Given the description of an element on the screen output the (x, y) to click on. 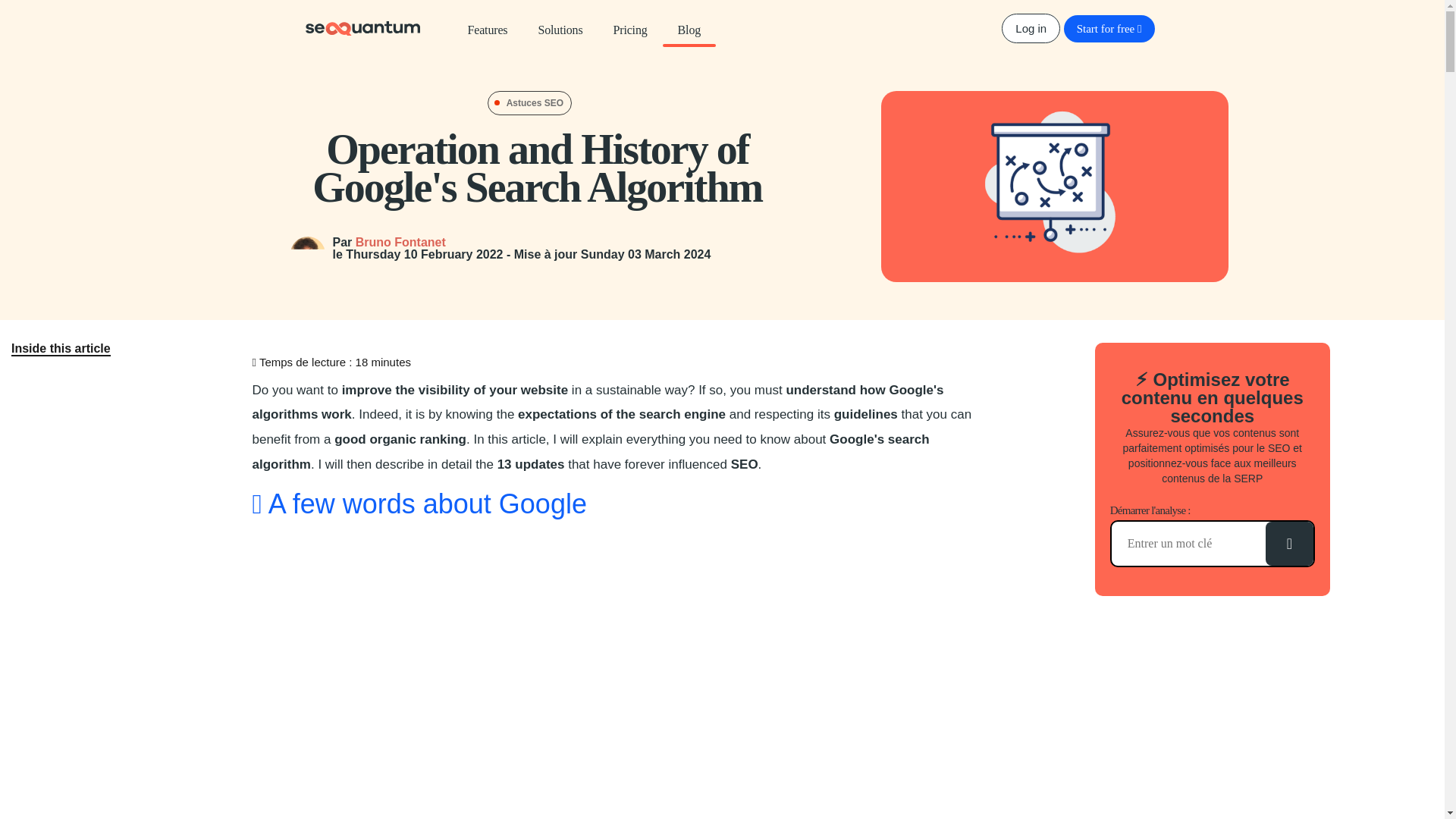
Bruno Fontanet (400, 241)
Start for free (1109, 28)
Pricing (629, 28)
Features (486, 28)
Astuces SEO (528, 101)
Solutions (559, 28)
Blog (689, 28)
Log in (1030, 28)
Astuces SEO (528, 101)
